Given the description of an element on the screen output the (x, y) to click on. 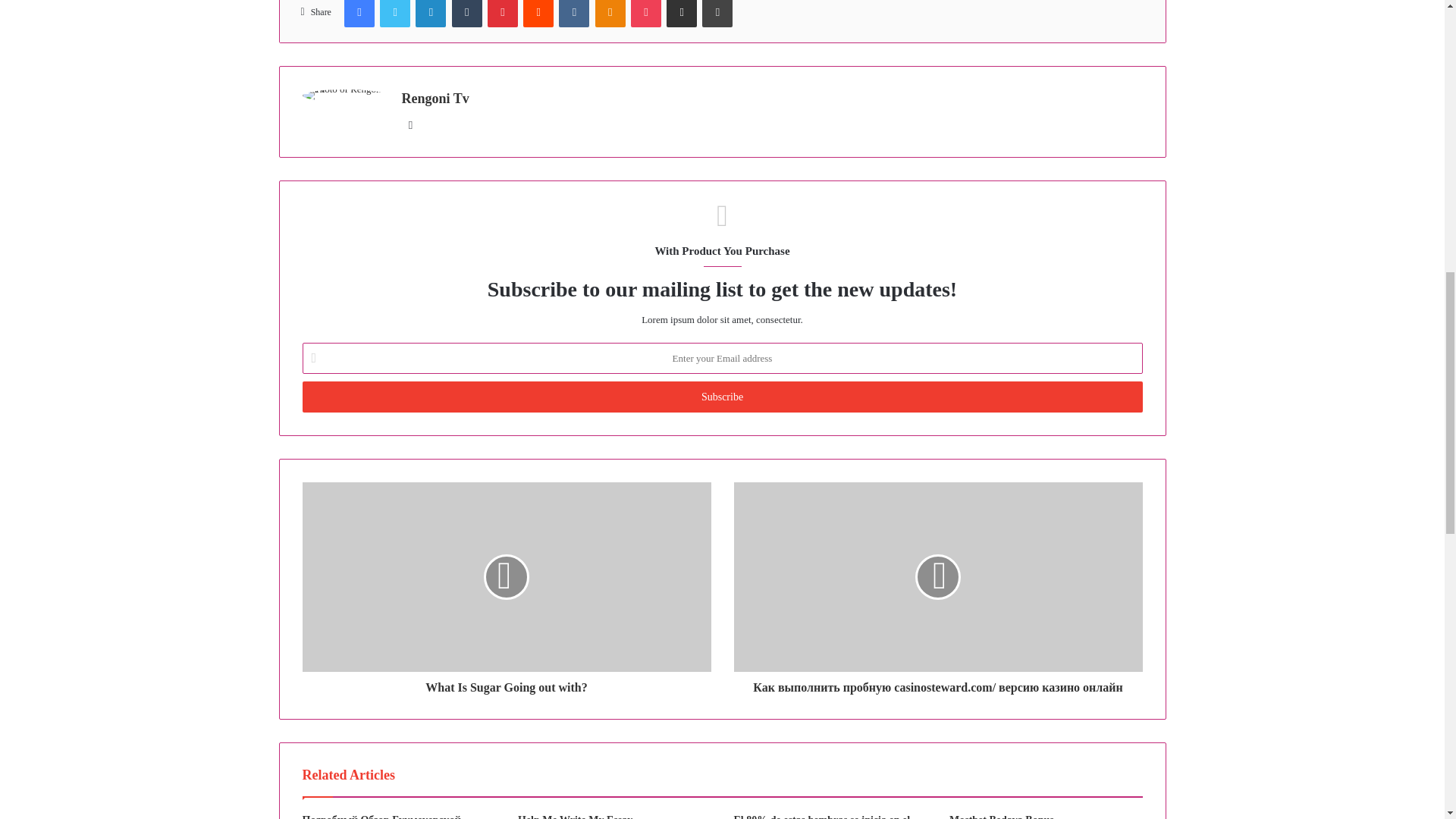
Tumblr (466, 13)
Twitter (395, 13)
Subscribe (721, 396)
Facebook (358, 13)
LinkedIn (429, 13)
